Given the description of an element on the screen output the (x, y) to click on. 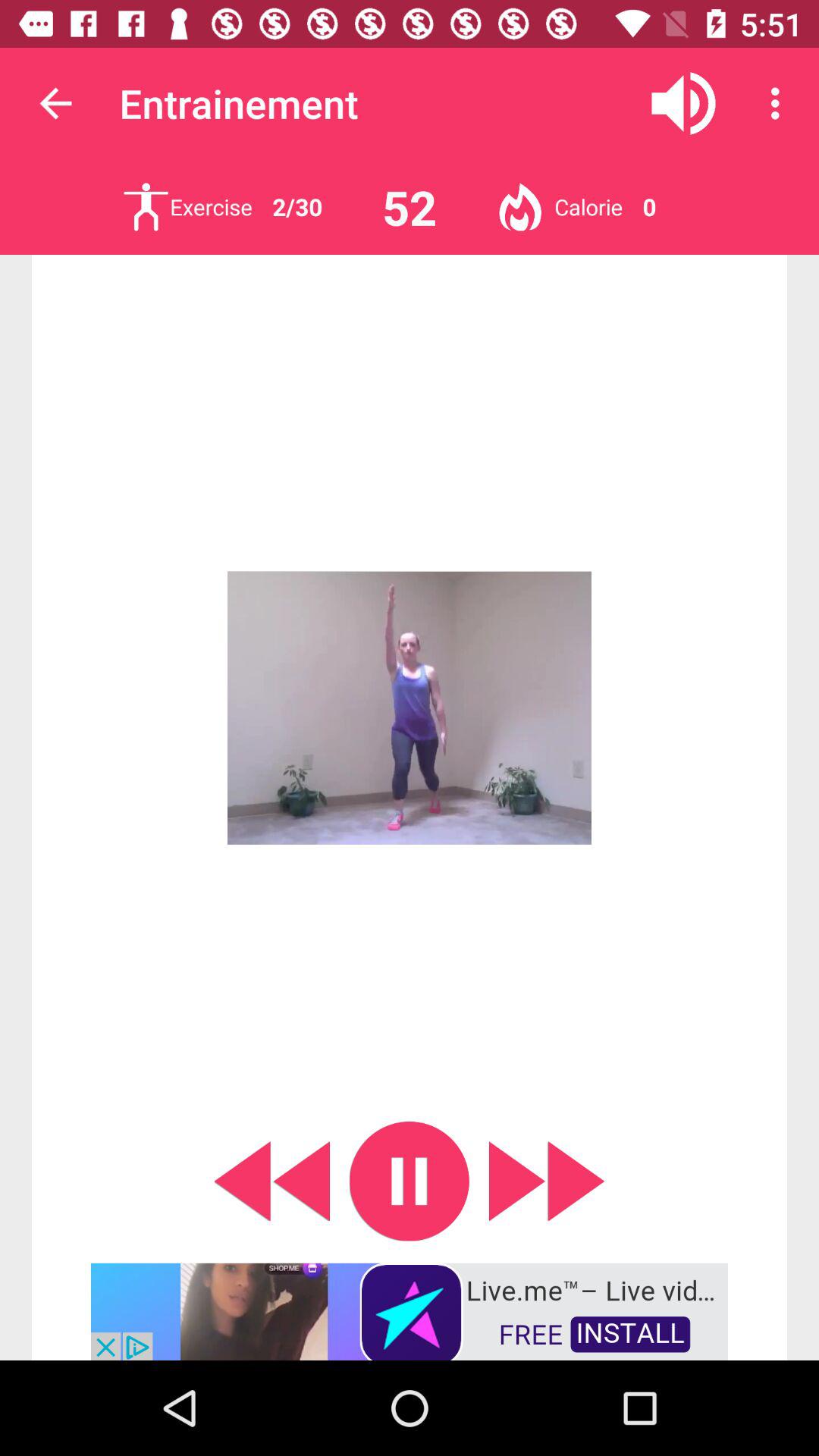
verify calories (520, 206)
